Given the description of an element on the screen output the (x, y) to click on. 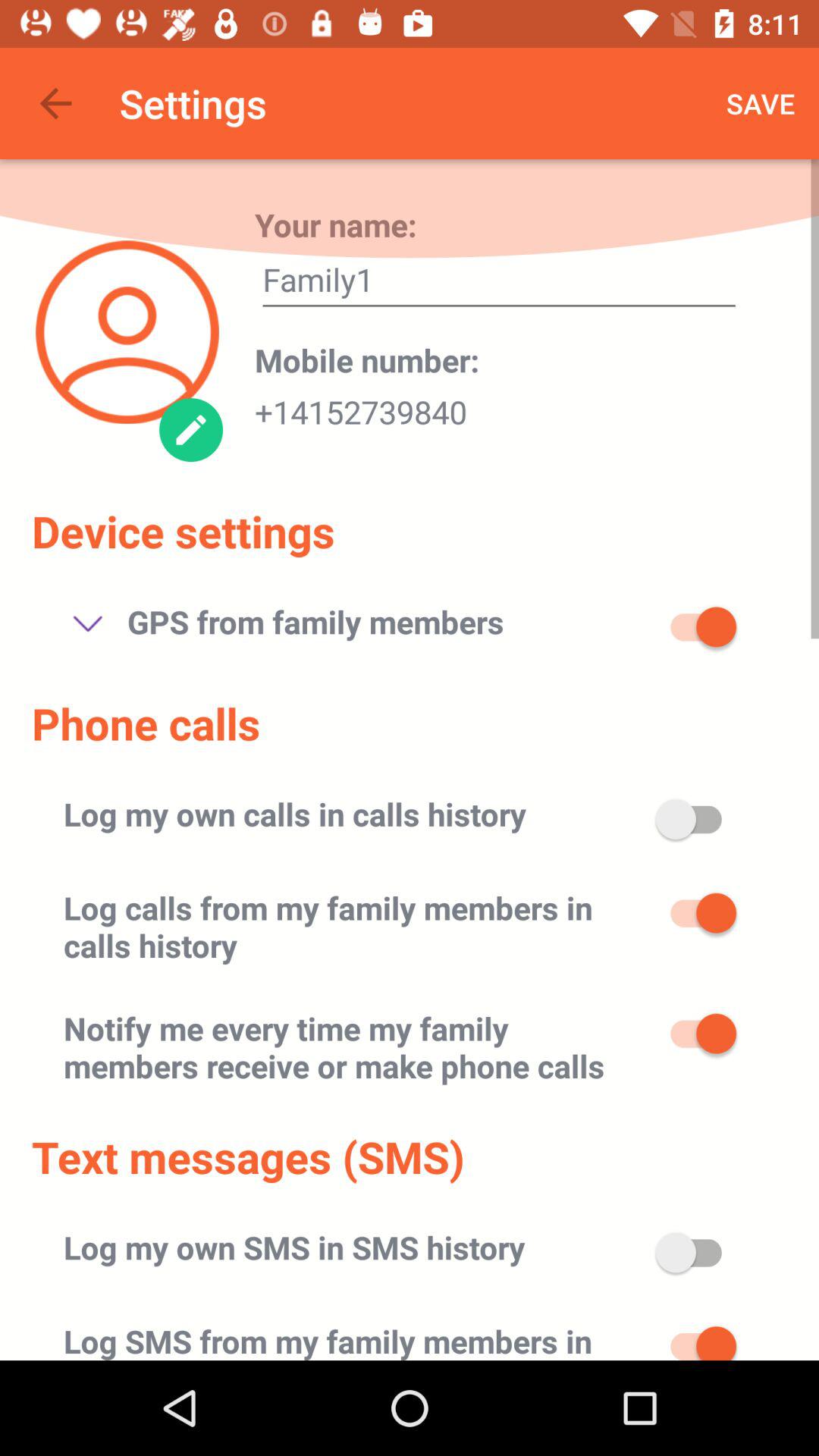
tap item below the your name: icon (498, 284)
